Given the description of an element on the screen output the (x, y) to click on. 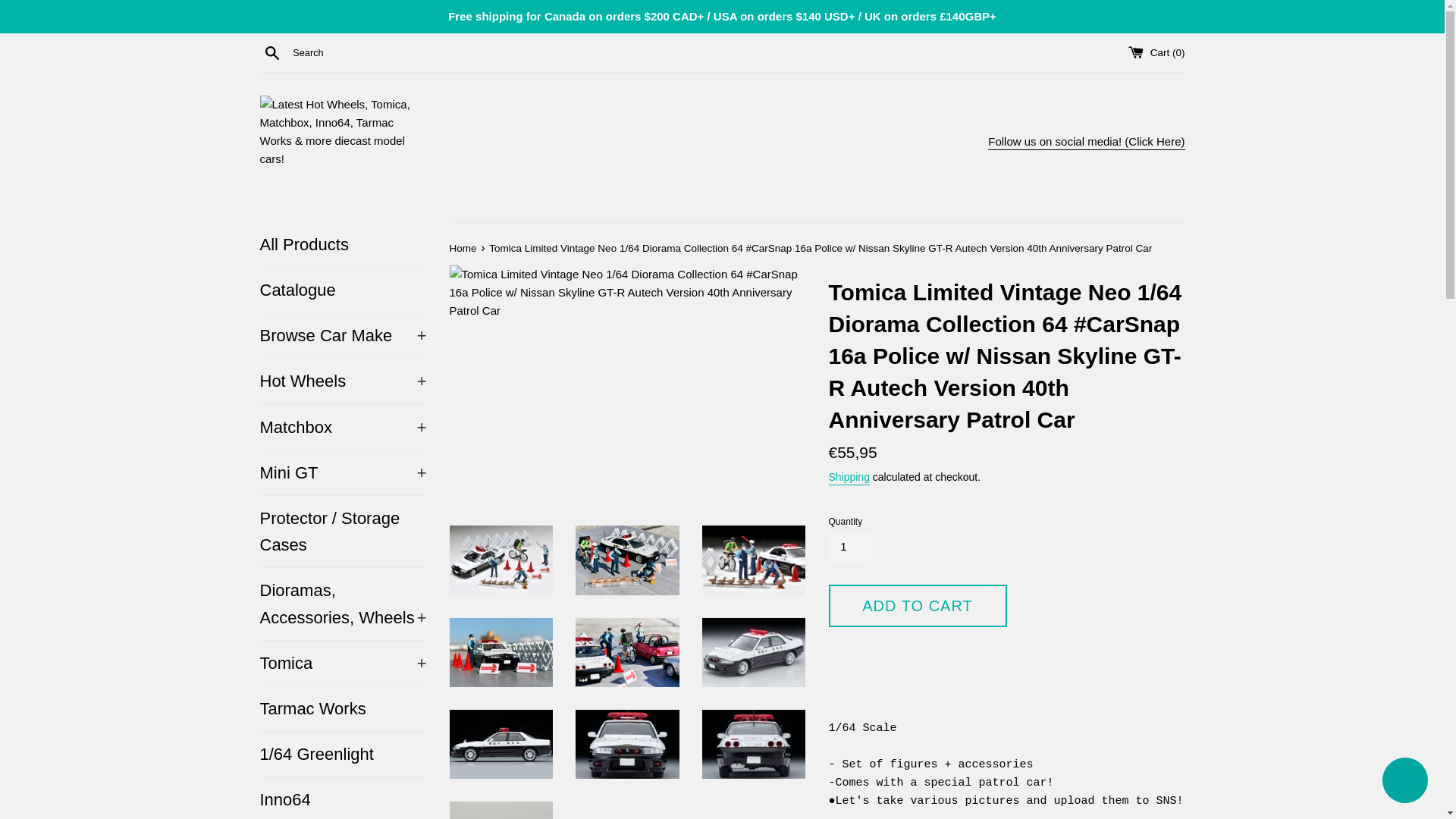
Back to the frontpage (463, 247)
All Products (342, 243)
Shopify online store chat (1404, 781)
Catalogue (342, 289)
1 (848, 546)
Search (271, 52)
